Given the description of an element on the screen output the (x, y) to click on. 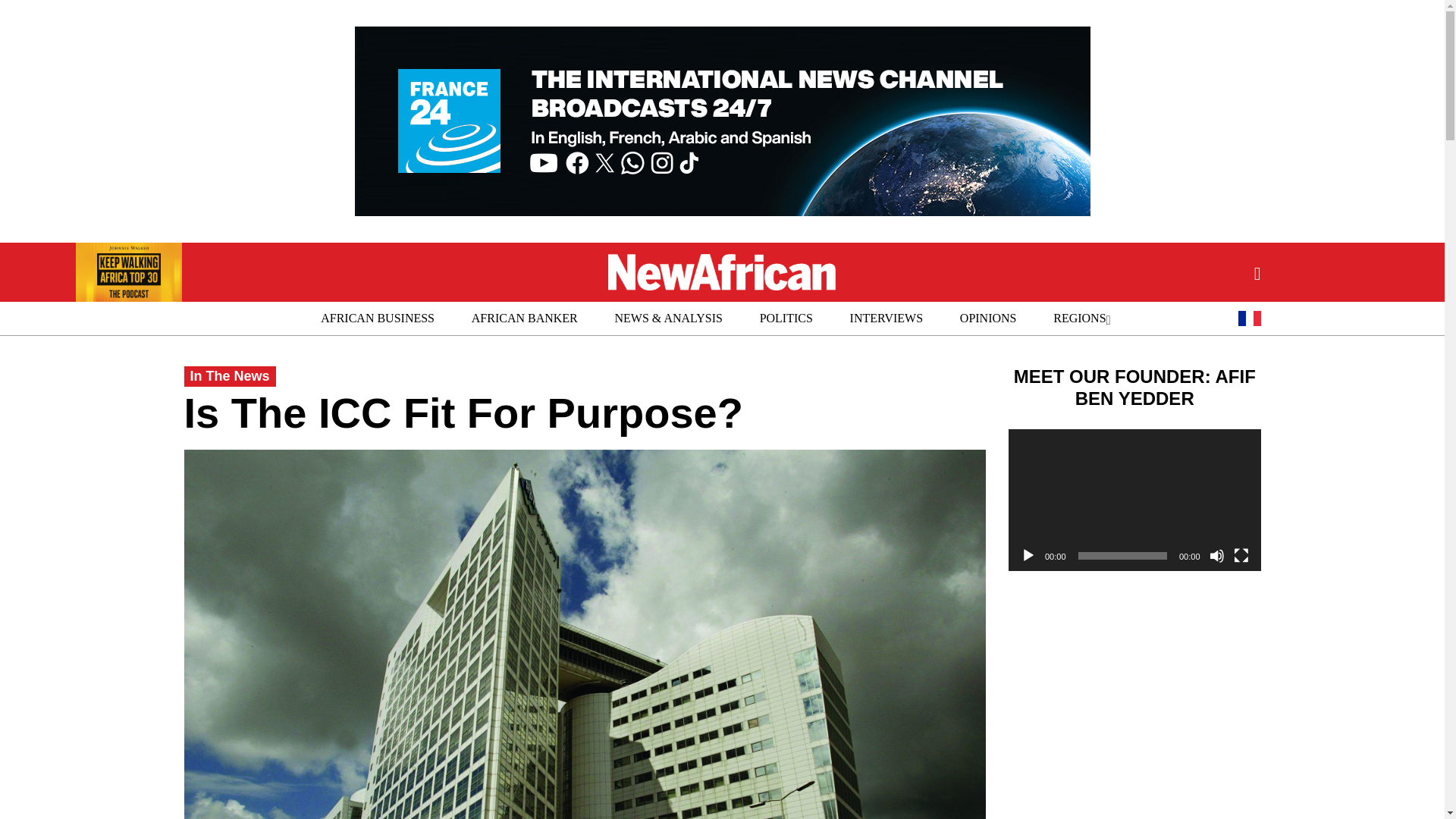
Fullscreen (1240, 555)
INTERVIEWS (885, 318)
In The News (229, 376)
OPINIONS (988, 318)
AFRICAN BUSINESS (377, 318)
AFRICAN BANKER (524, 318)
REGIONS (1080, 318)
Mute (1216, 555)
Play (1027, 555)
POLITICS (785, 318)
